Given the description of an element on the screen output the (x, y) to click on. 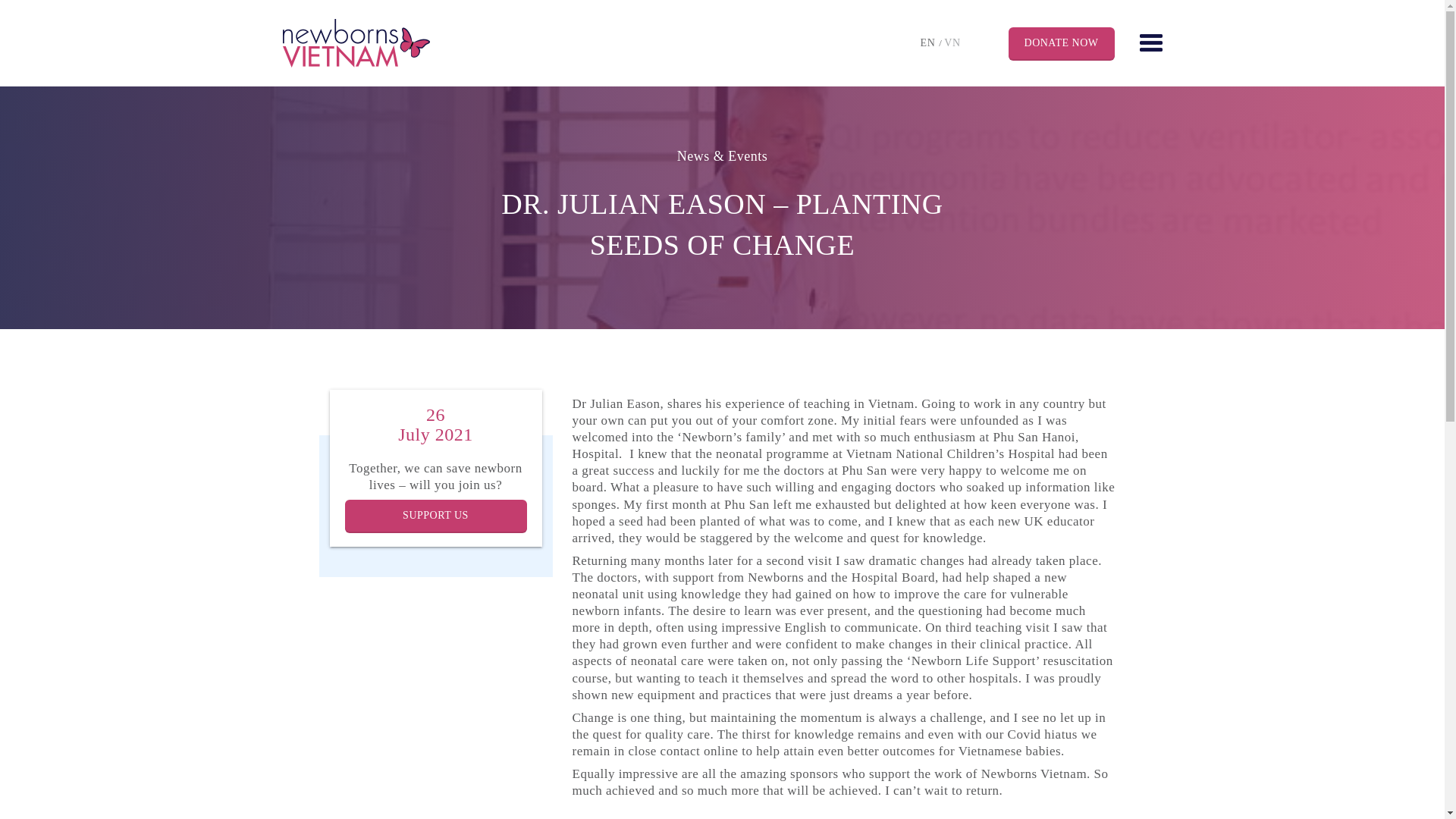
SUPPORT US (434, 515)
DONATE NOW (1062, 42)
